Given the description of an element on the screen output the (x, y) to click on. 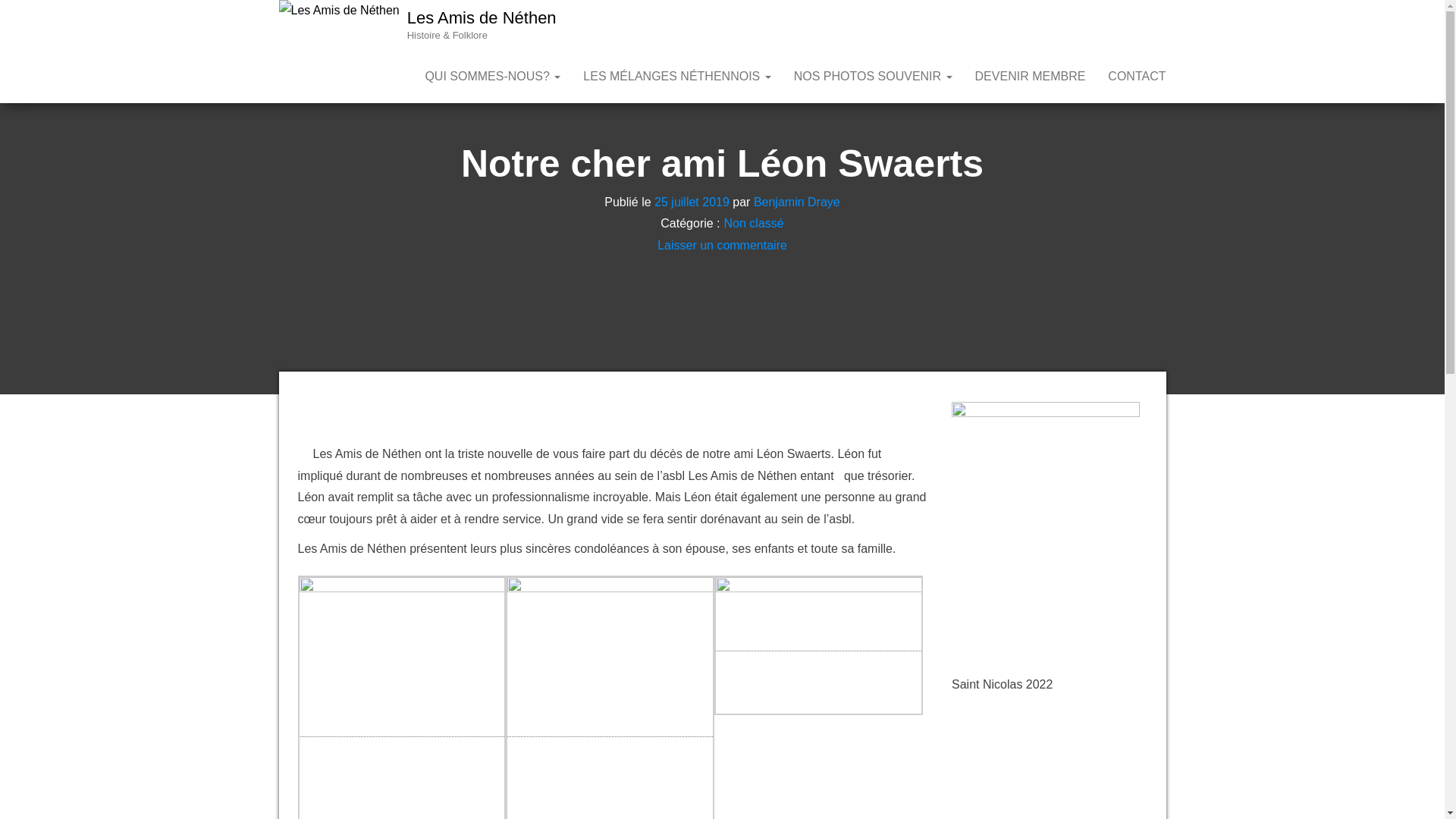
Laisser un commentaire Element type: text (722, 244)
25 juillet 2019 Element type: text (691, 200)
CONTACT Element type: text (1136, 76)
Benjamin Draye Element type: text (796, 200)
QUI SOMMES-NOUS? Element type: text (492, 76)
DEVENIR MEMBRE Element type: text (1030, 76)
NOS PHOTOS SOUVENIR Element type: text (872, 76)
